Given the description of an element on the screen output the (x, y) to click on. 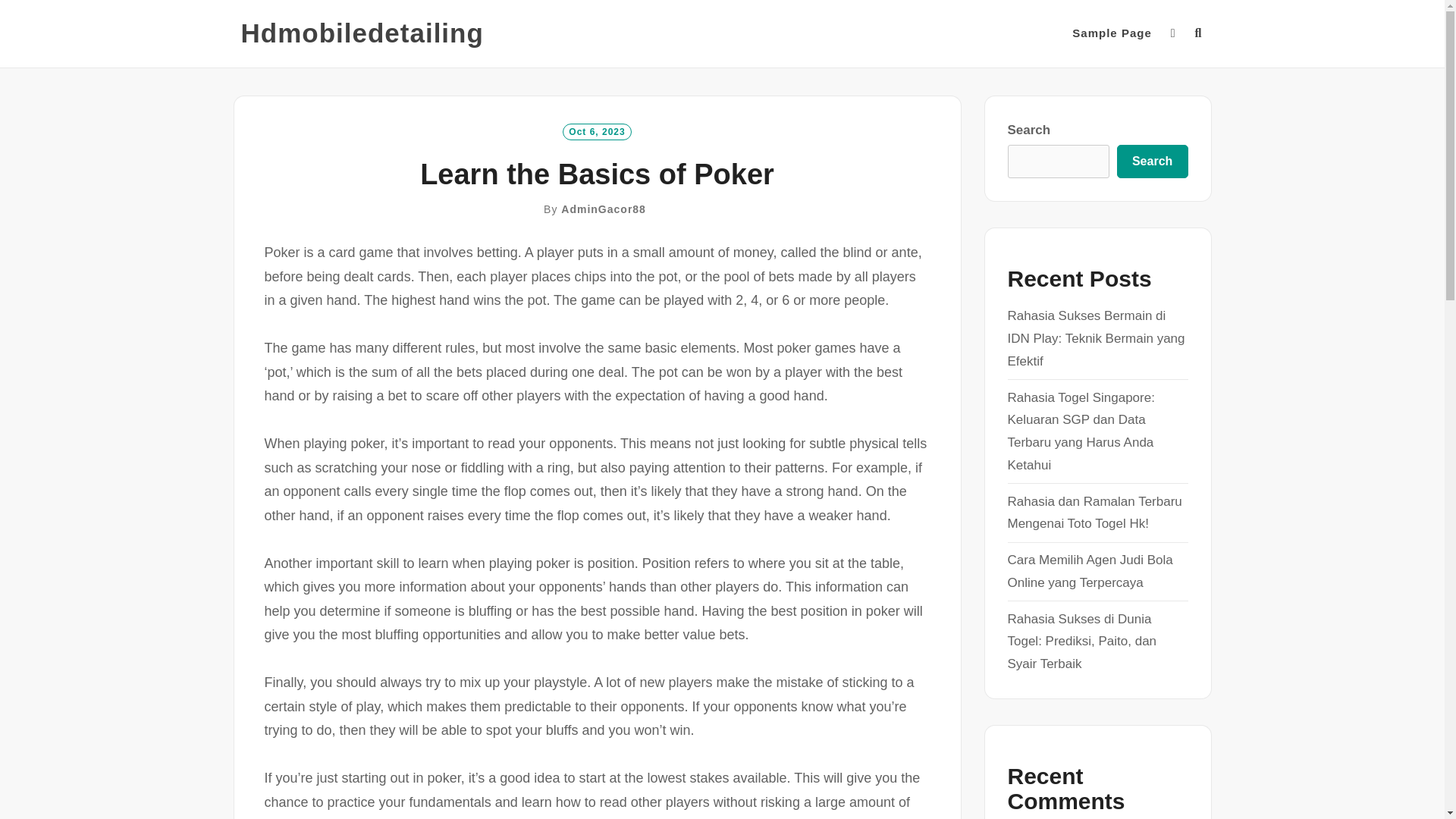
Search (1152, 161)
Sample Page (1111, 33)
Oct 6, 2023 (596, 130)
AdminGacor88 (603, 209)
Hdmobiledetailing (362, 33)
Search (730, 427)
Rahasia dan Ramalan Terbaru Mengenai Toto Togel Hk! (1093, 512)
Cara Memilih Agen Judi Bola Online yang Terpercaya (1089, 570)
